Given the description of an element on the screen output the (x, y) to click on. 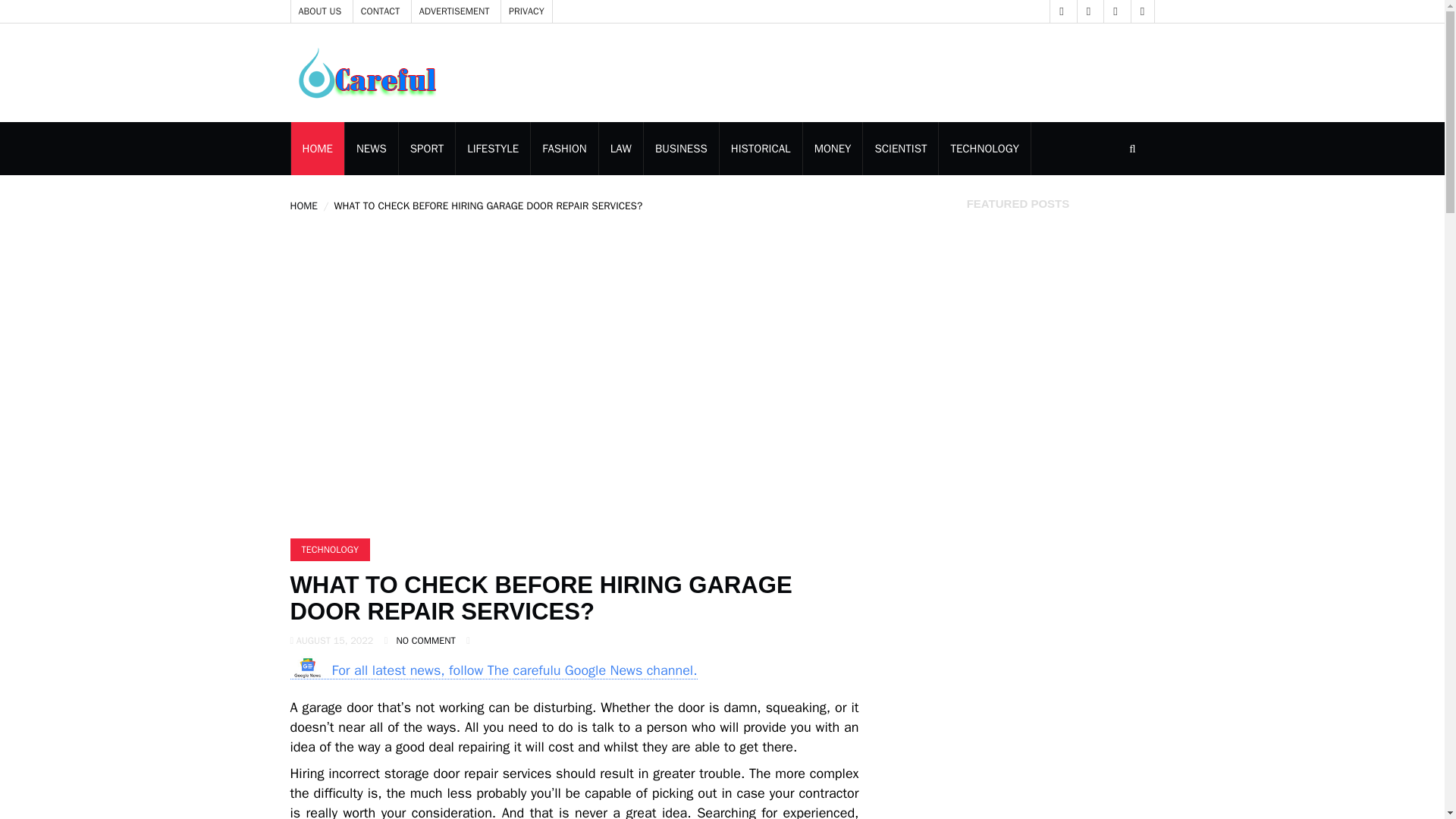
BUSINESS (681, 148)
PRIVACY (525, 11)
ABOUT US (320, 11)
HISTORICAL (760, 148)
SCIENTIST (900, 148)
CONTACT (380, 11)
HOME (317, 148)
NO COMMENT (425, 640)
HOME (303, 205)
